Given the description of an element on the screen output the (x, y) to click on. 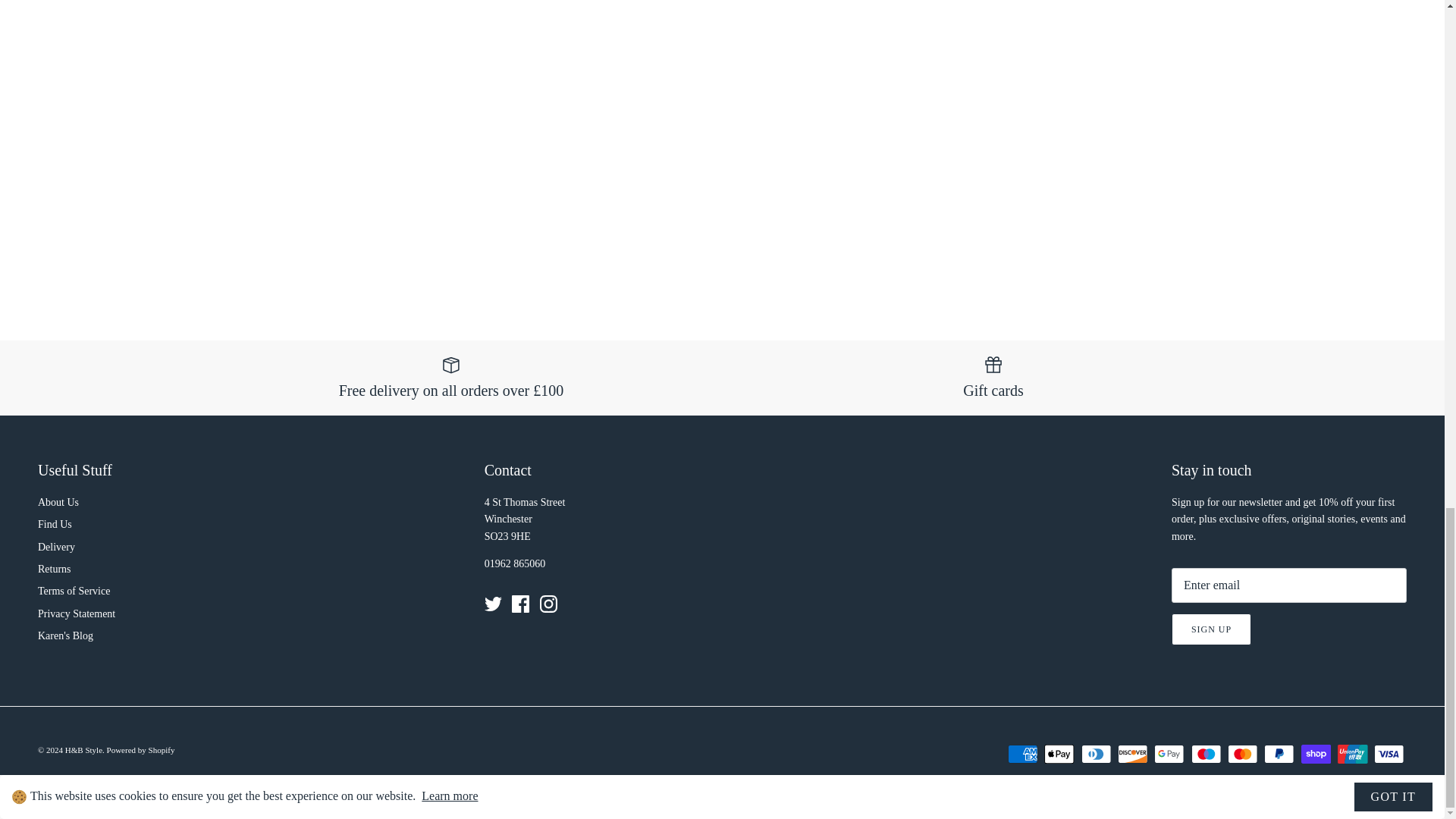
Instagram (548, 603)
Twitter (493, 603)
Facebook (520, 603)
Apple Pay (1058, 753)
American Express (1022, 753)
